Given the description of an element on the screen output the (x, y) to click on. 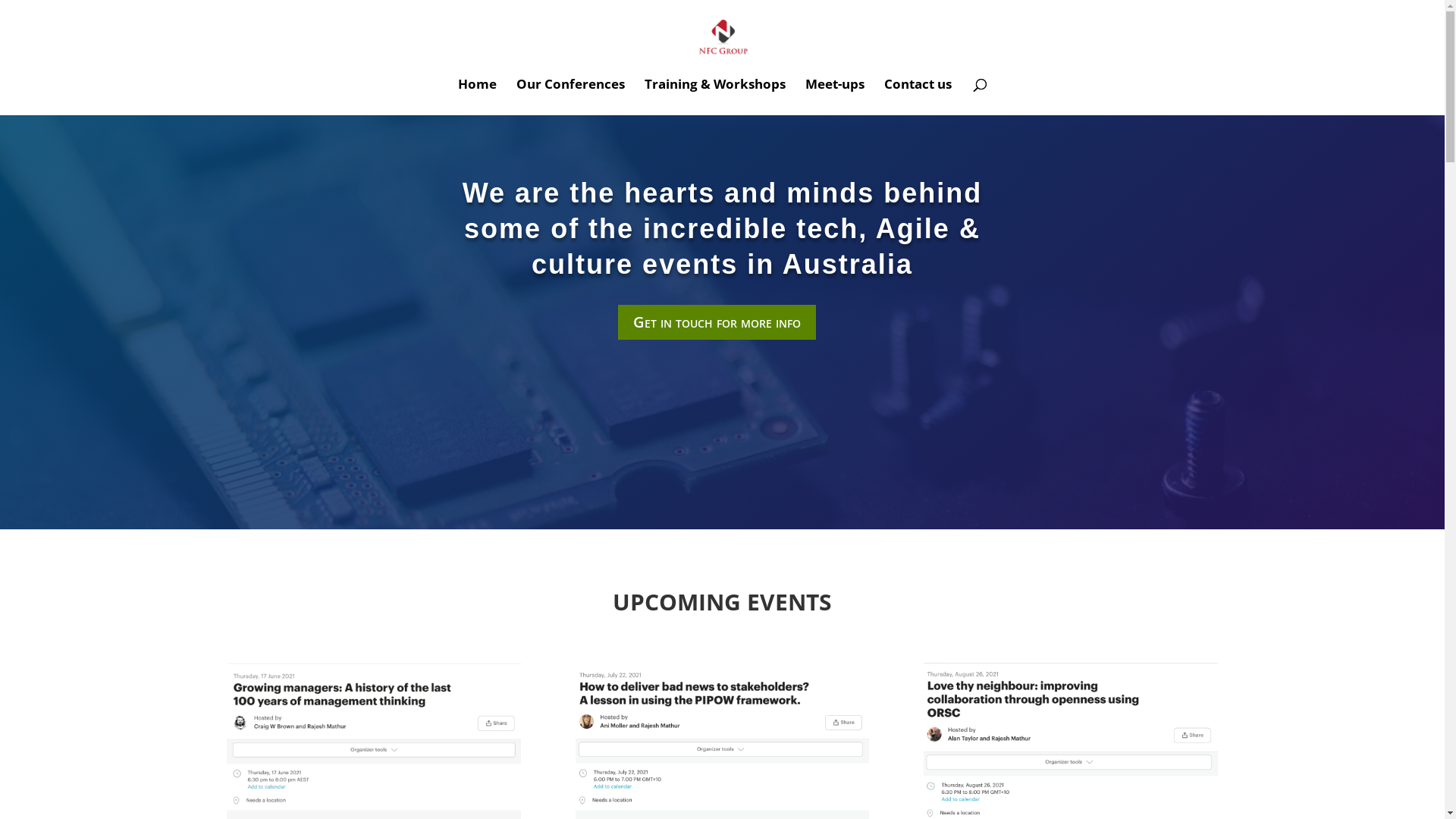
Home Element type: text (477, 96)
Training & Workshops Element type: text (714, 96)
Get in touch for more info Element type: text (716, 321)
Contact us Element type: text (917, 96)
Meet-ups Element type: text (834, 96)
Our Conferences Element type: text (570, 96)
